Given the description of an element on the screen output the (x, y) to click on. 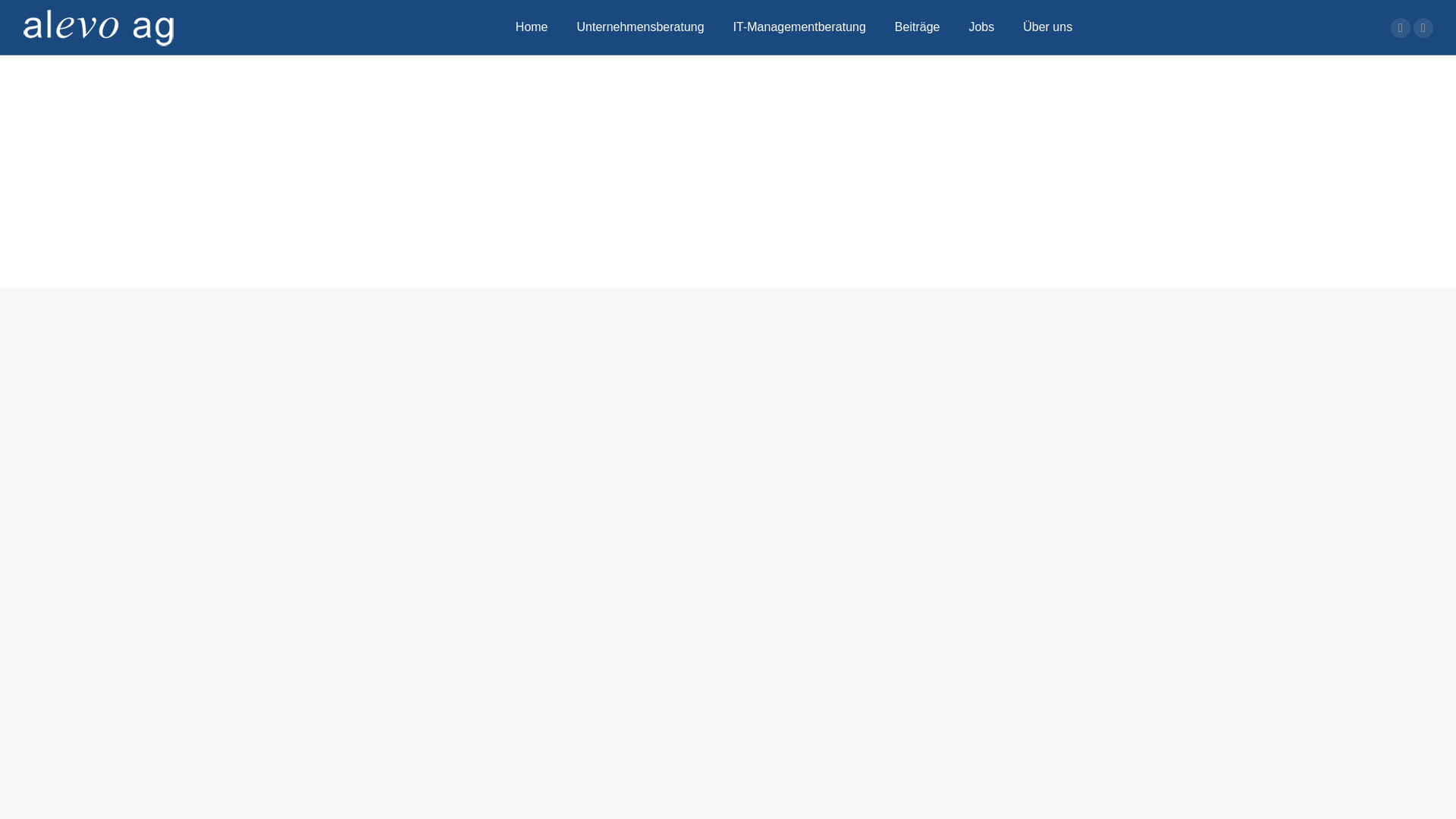
IT-Managementberatung Element type: text (799, 26)
Twitter page opens in new window Element type: text (1400, 27)
Linkedin page opens in new window Element type: text (1423, 27)
Unternehmensberatung Element type: text (640, 26)
Home Element type: text (531, 26)
Jobs Element type: text (981, 26)
